Given the description of an element on the screen output the (x, y) to click on. 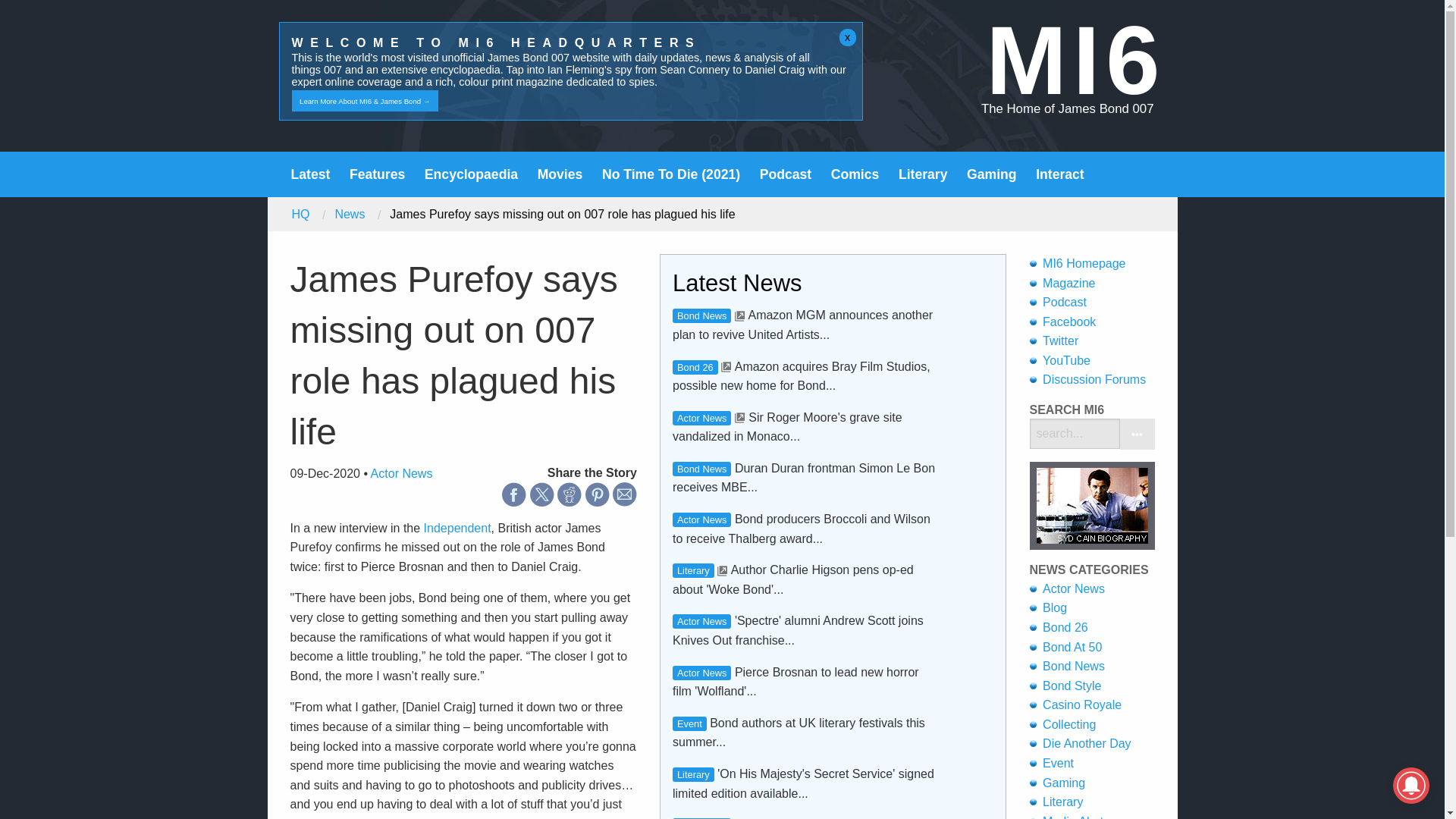
MI6 (1075, 59)
Podcast (785, 174)
The Home of James Bond 007 (1067, 108)
Gaming (991, 174)
Interact (1059, 174)
x (848, 37)
Features (376, 174)
Comics (855, 174)
Encyclopaedia (471, 174)
Movies (560, 174)
Literary (922, 174)
Latest (310, 174)
